Given the description of an element on the screen output the (x, y) to click on. 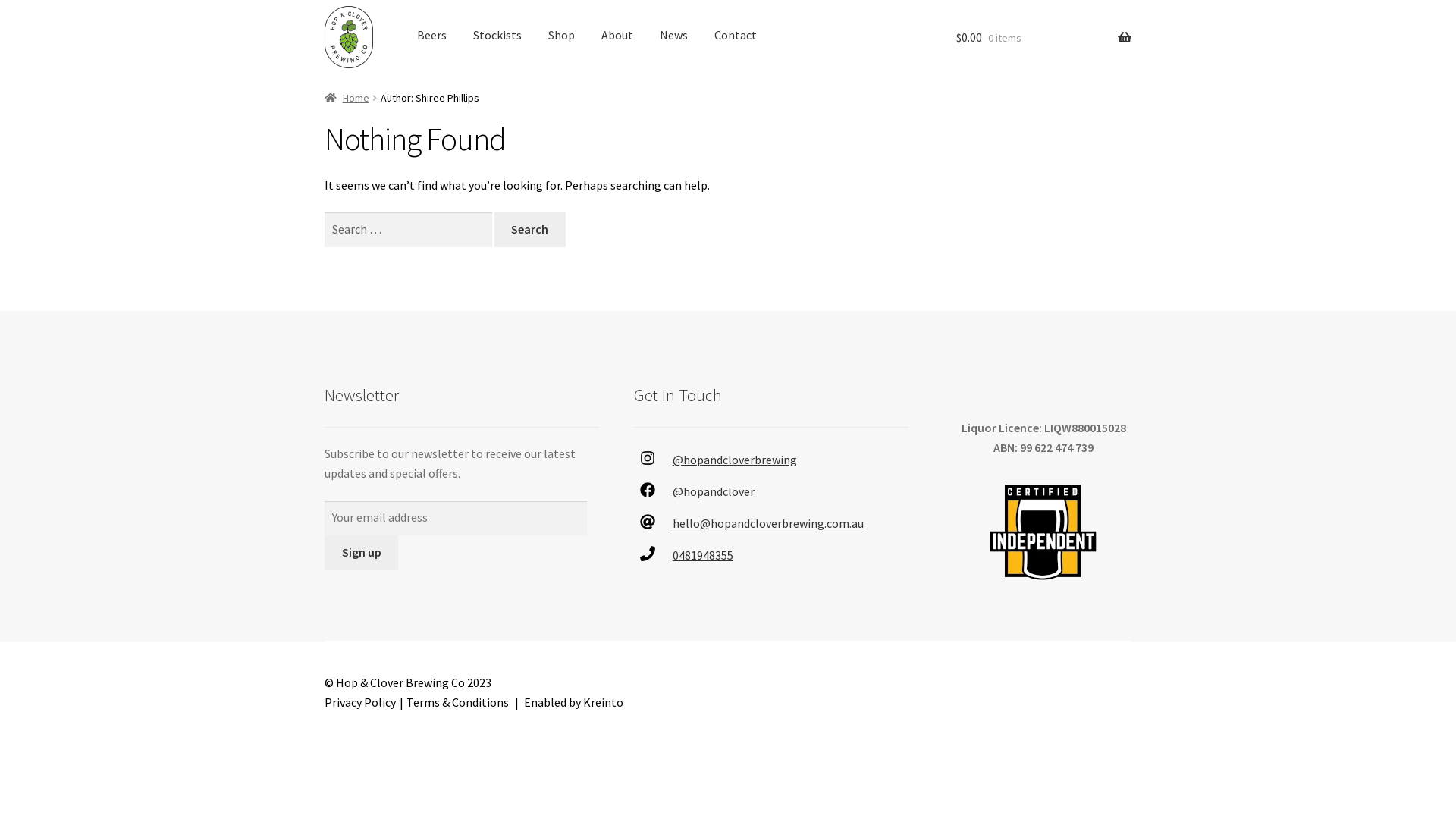
0481948355 Element type: text (702, 554)
Terms & Conditions Element type: text (457, 701)
Stockists Element type: text (497, 35)
Privacy Policy Element type: text (359, 701)
@hopandcloverbrewing Element type: text (734, 459)
Enabled by Kreinto Element type: text (573, 701)
@hopandclover Element type: text (713, 490)
Search Element type: text (529, 229)
Contact Element type: text (735, 35)
Beers Element type: text (431, 35)
Skip to navigation Element type: text (323, 5)
About Element type: text (617, 35)
Home Element type: text (346, 97)
News Element type: text (673, 35)
hello@hopandcloverbrewing.com.au Element type: text (767, 522)
Sign up Element type: text (361, 552)
Shop Element type: text (561, 35)
$0.00 0 items Element type: text (1043, 37)
